Given the description of an element on the screen output the (x, y) to click on. 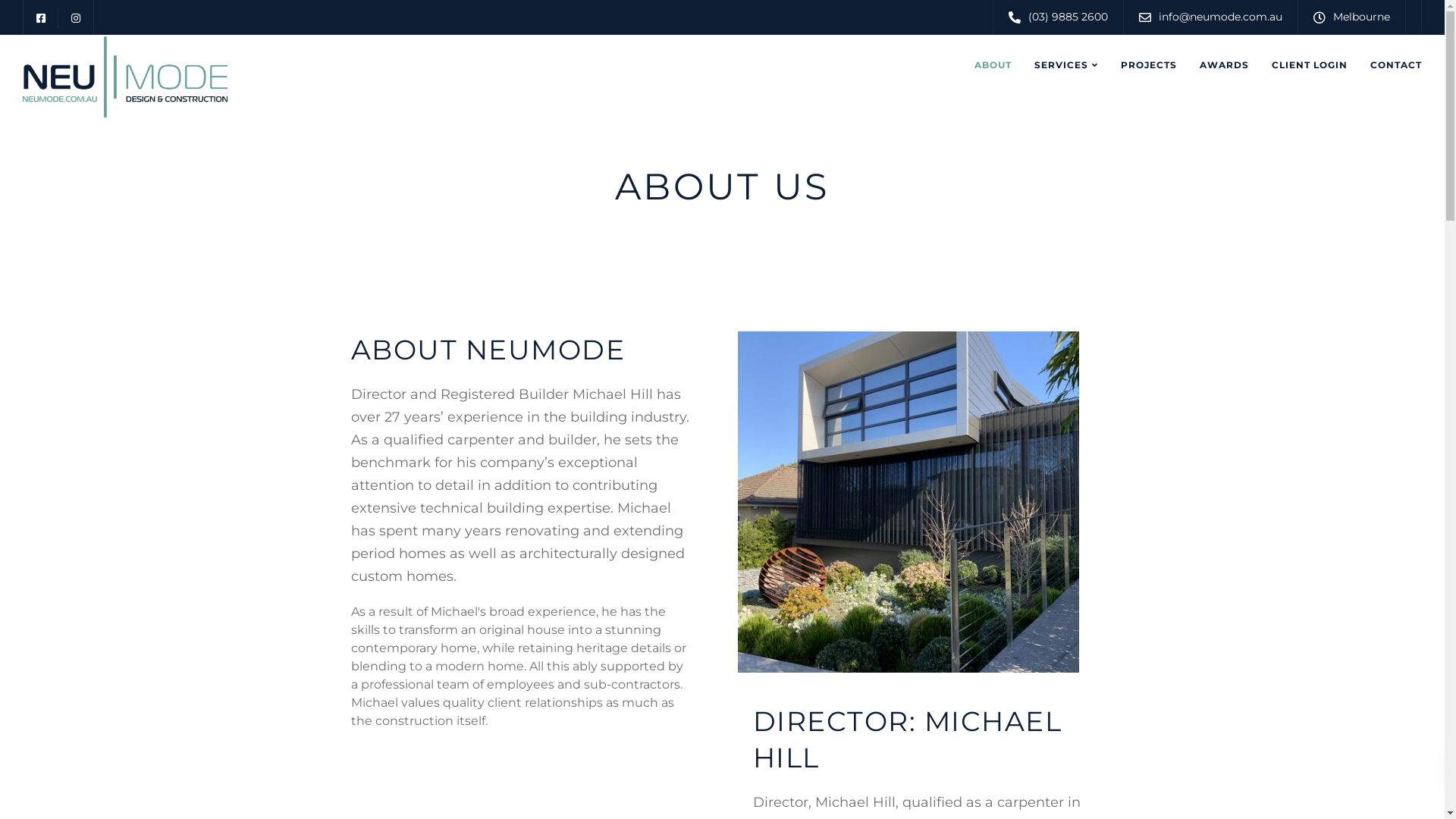
Glen Iris Master Home Builder Melbourne Element type: hover (907, 501)
SERVICES Element type: text (1065, 65)
 ABOUT Element type: text (991, 65)
(03) 9885 2600 Element type: text (1071, 16)
AWARDS Element type: text (1224, 65)
CONTACT Element type: text (1395, 65)
CLIENT LOGIN Element type: text (1309, 65)
info@neumode.com.au Element type: text (1223, 16)
PROJECTS Element type: text (1148, 65)
